Given the description of an element on the screen output the (x, y) to click on. 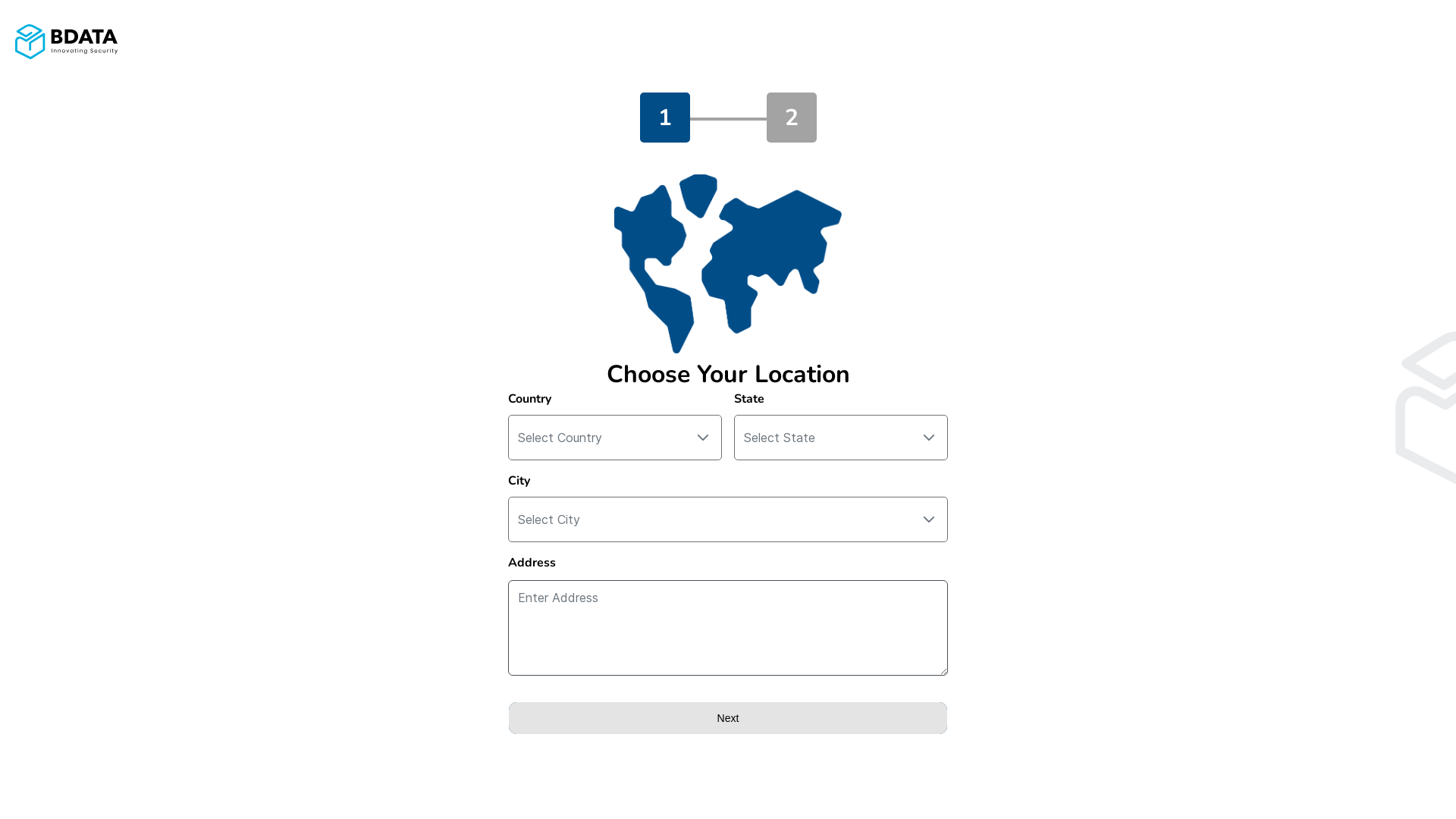
Next Element type: text (727, 717)
